Given the description of an element on the screen output the (x, y) to click on. 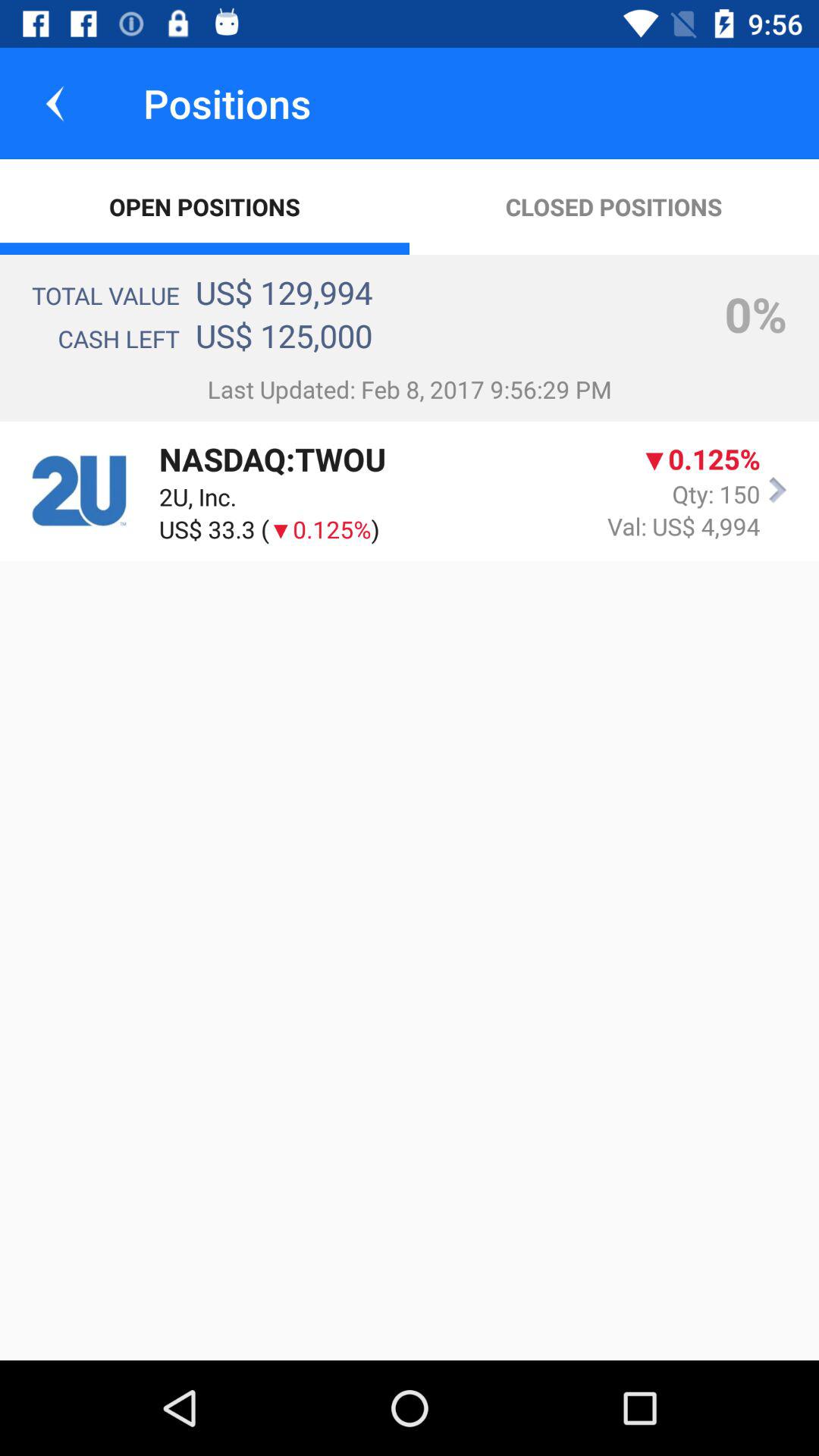
click item above the open positions (55, 103)
